Given the description of an element on the screen output the (x, y) to click on. 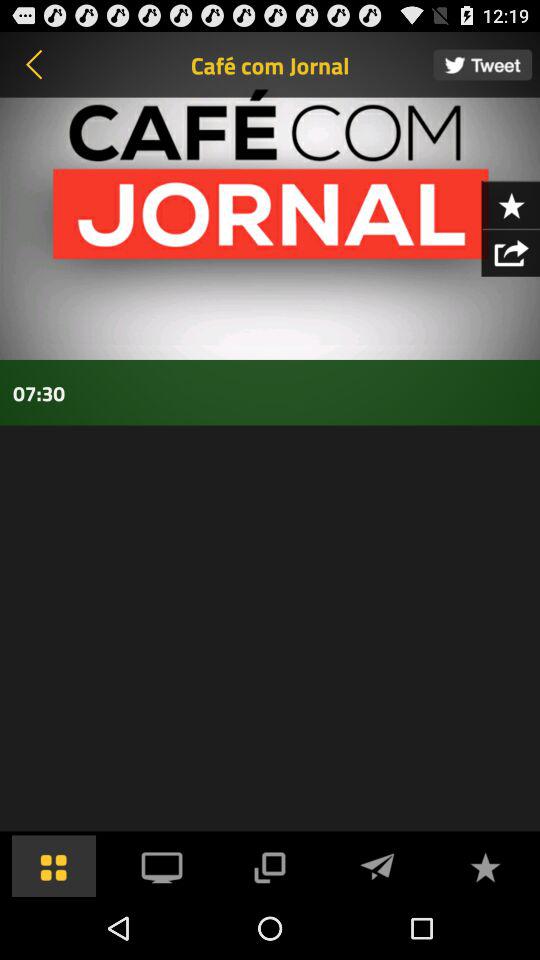
all programm (54, 865)
